Given the description of an element on the screen output the (x, y) to click on. 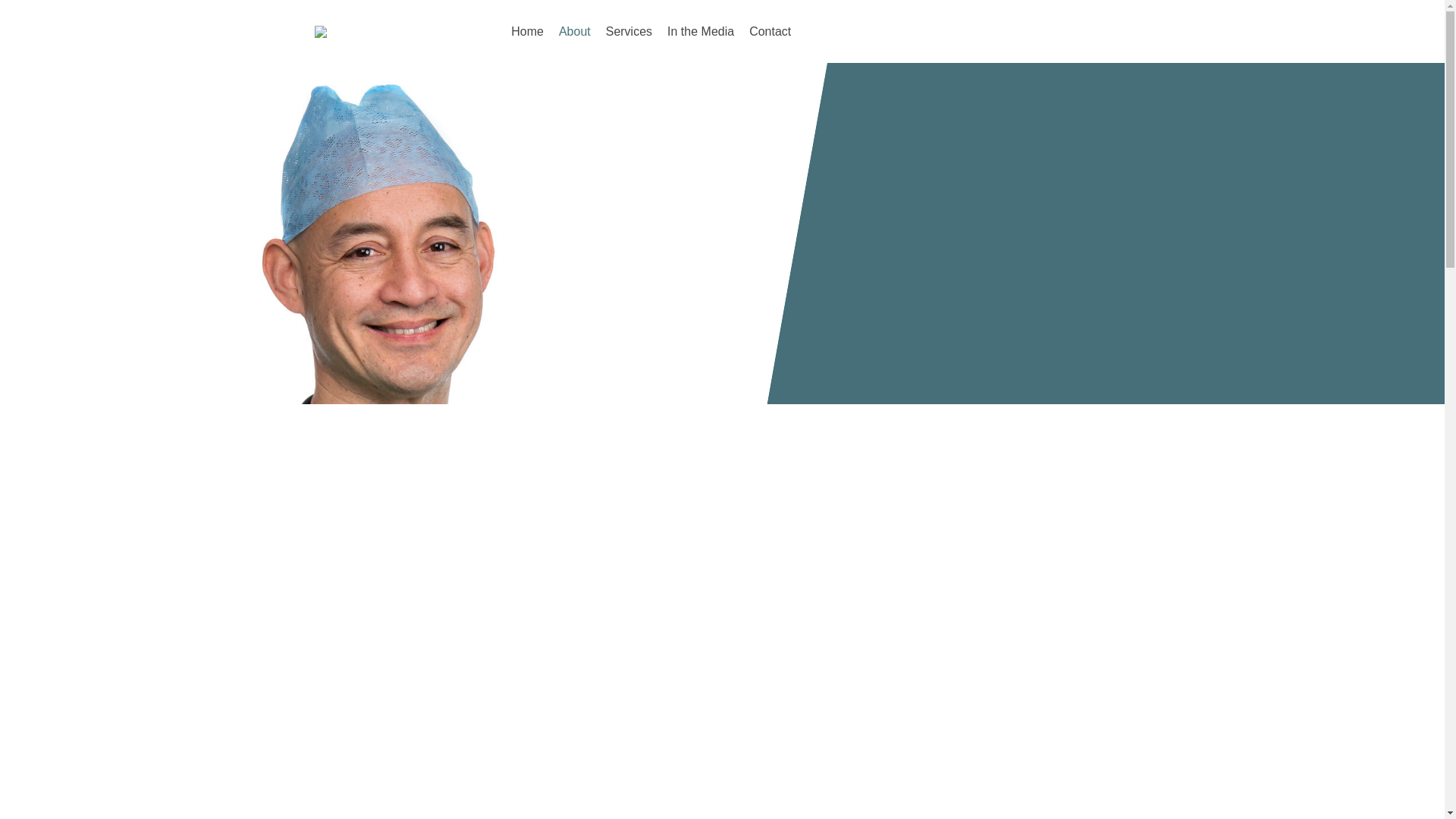
Services (628, 31)
In the Media (700, 31)
About (574, 31)
Home (527, 31)
Mr David Nunns-logo (377, 31)
Contact (769, 31)
